Given the description of an element on the screen output the (x, y) to click on. 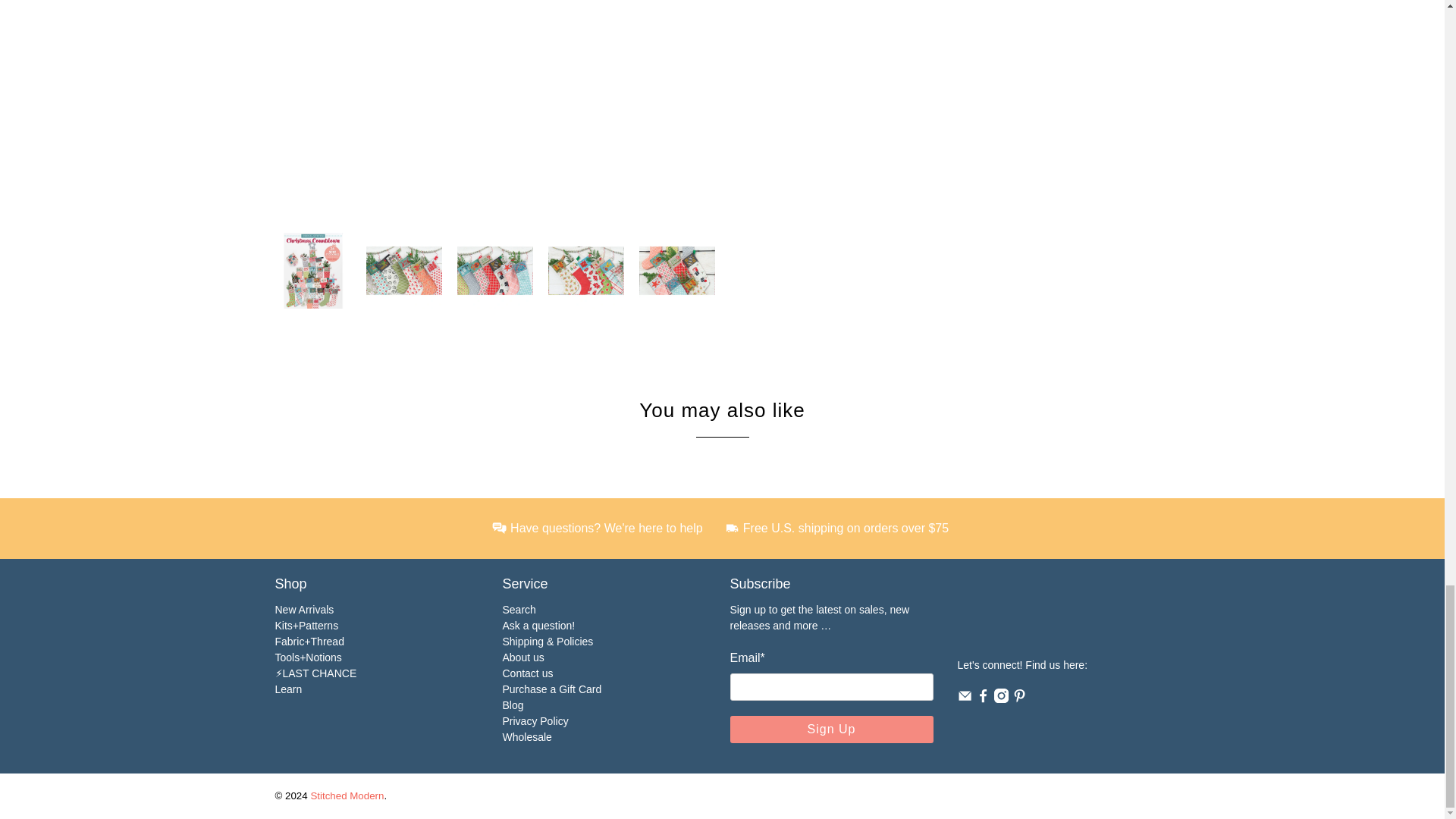
Stitched Modern on Facebook (982, 698)
Stitched Modern (1041, 615)
Email Stitched Modern (963, 698)
Stitched Modern on Instagram (1001, 698)
